Given the description of an element on the screen output the (x, y) to click on. 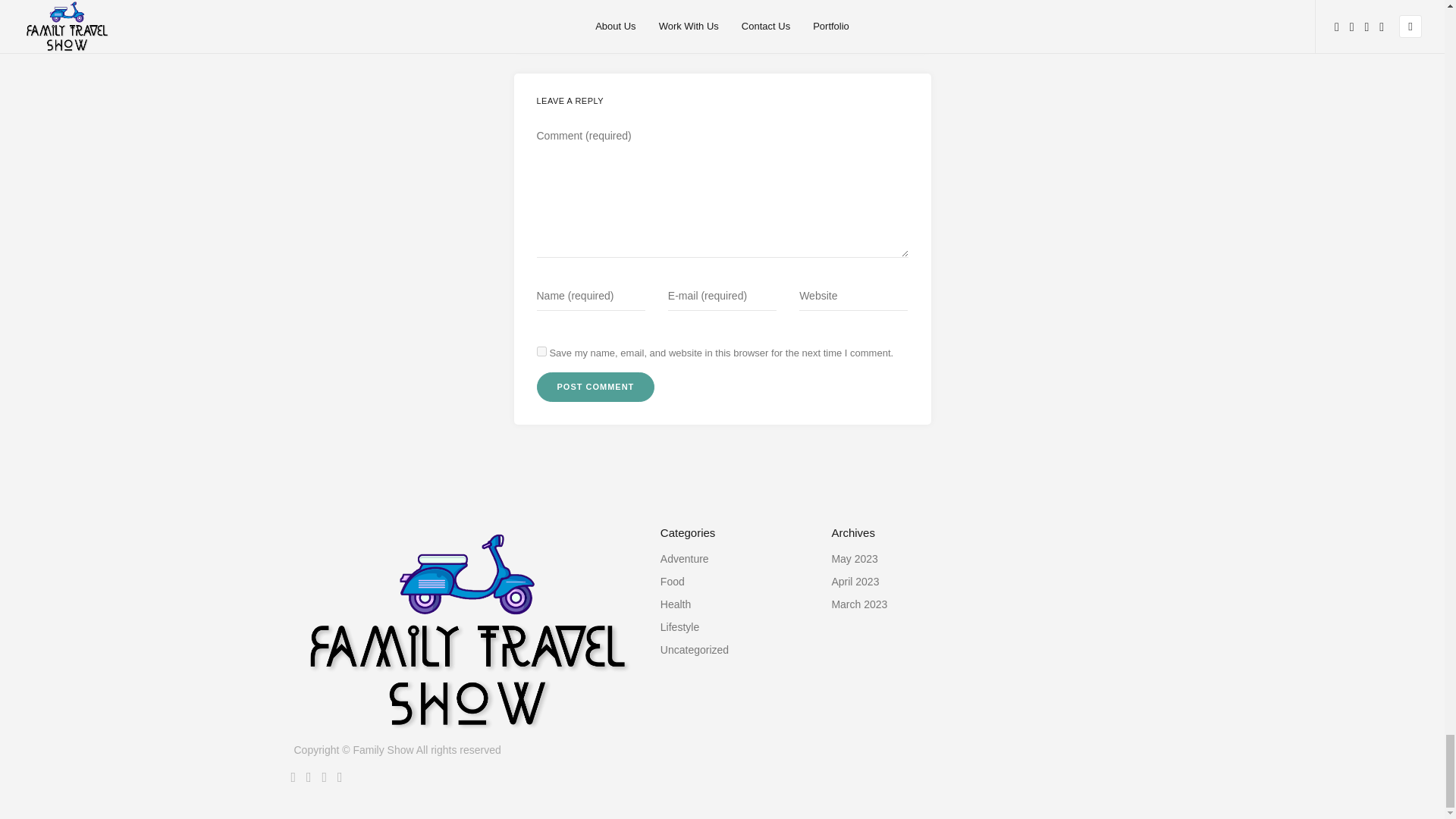
yes (542, 351)
Post Comment (596, 387)
Post Comment (596, 387)
